Given the description of an element on the screen output the (x, y) to click on. 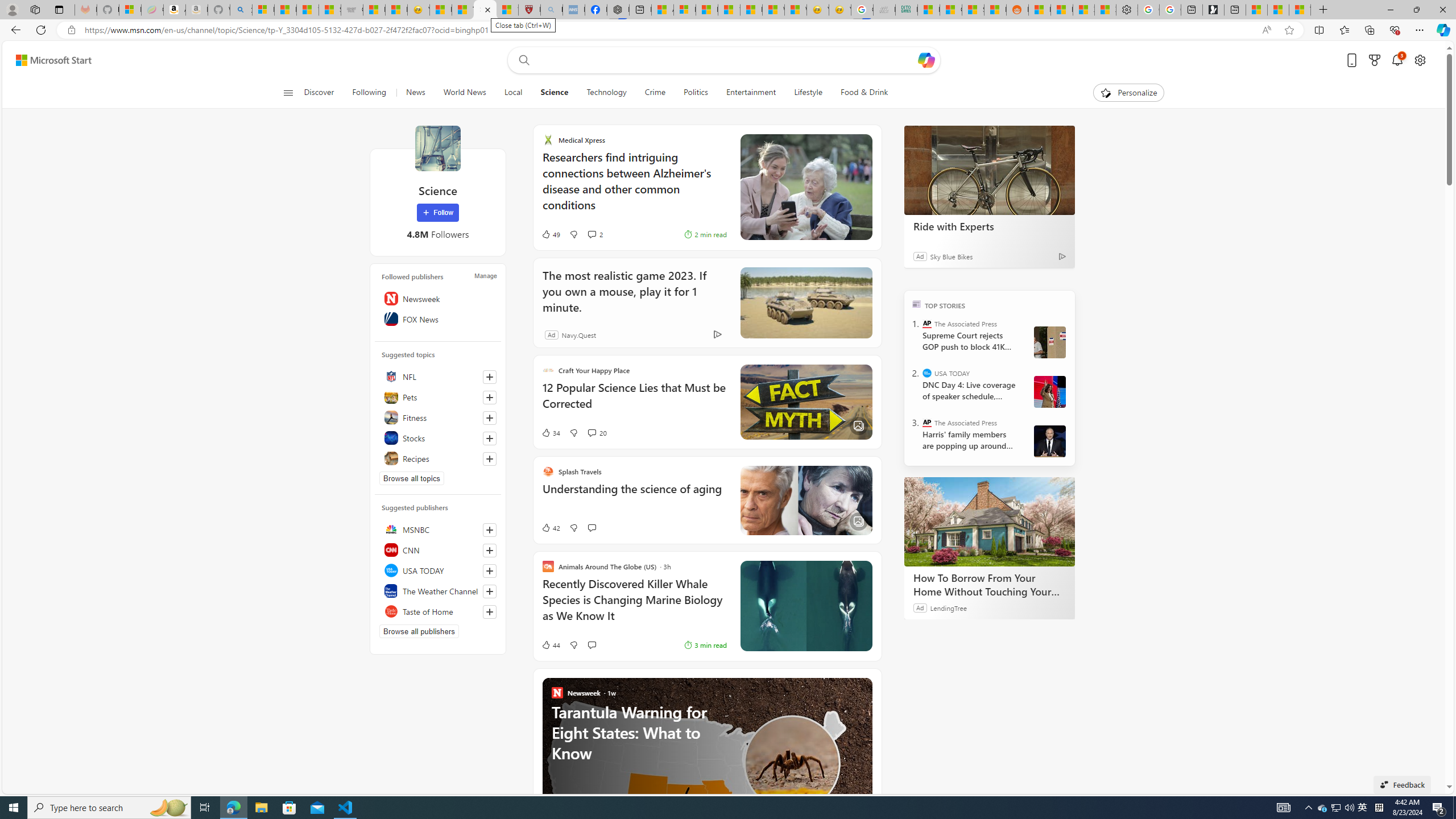
Fitness - MSN (751, 9)
These 3 Stocks Pay You More Than 5% to Own Them (1300, 9)
